Given the description of an element on the screen output the (x, y) to click on. 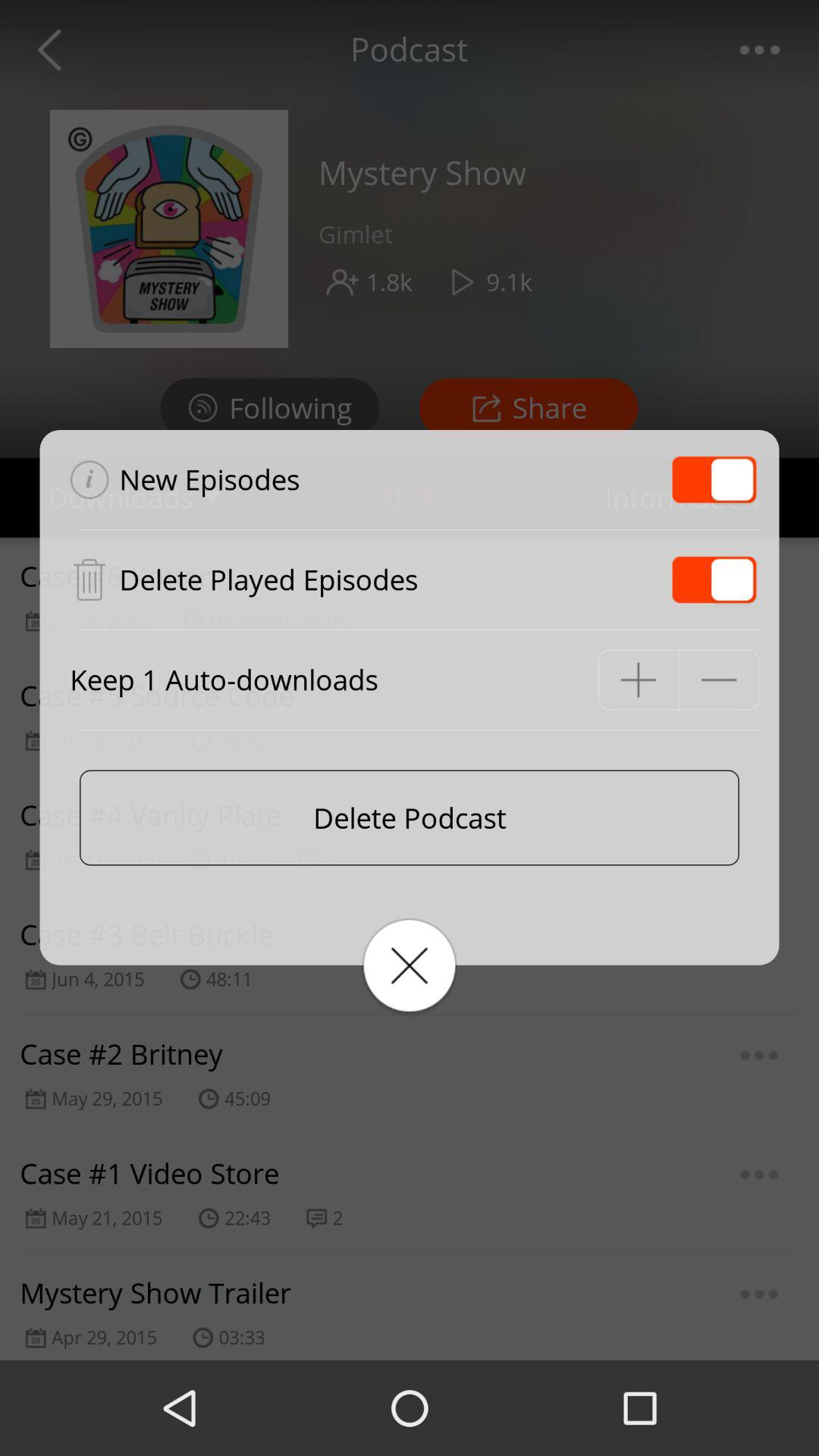
toggle new episodes (714, 479)
